Given the description of an element on the screen output the (x, y) to click on. 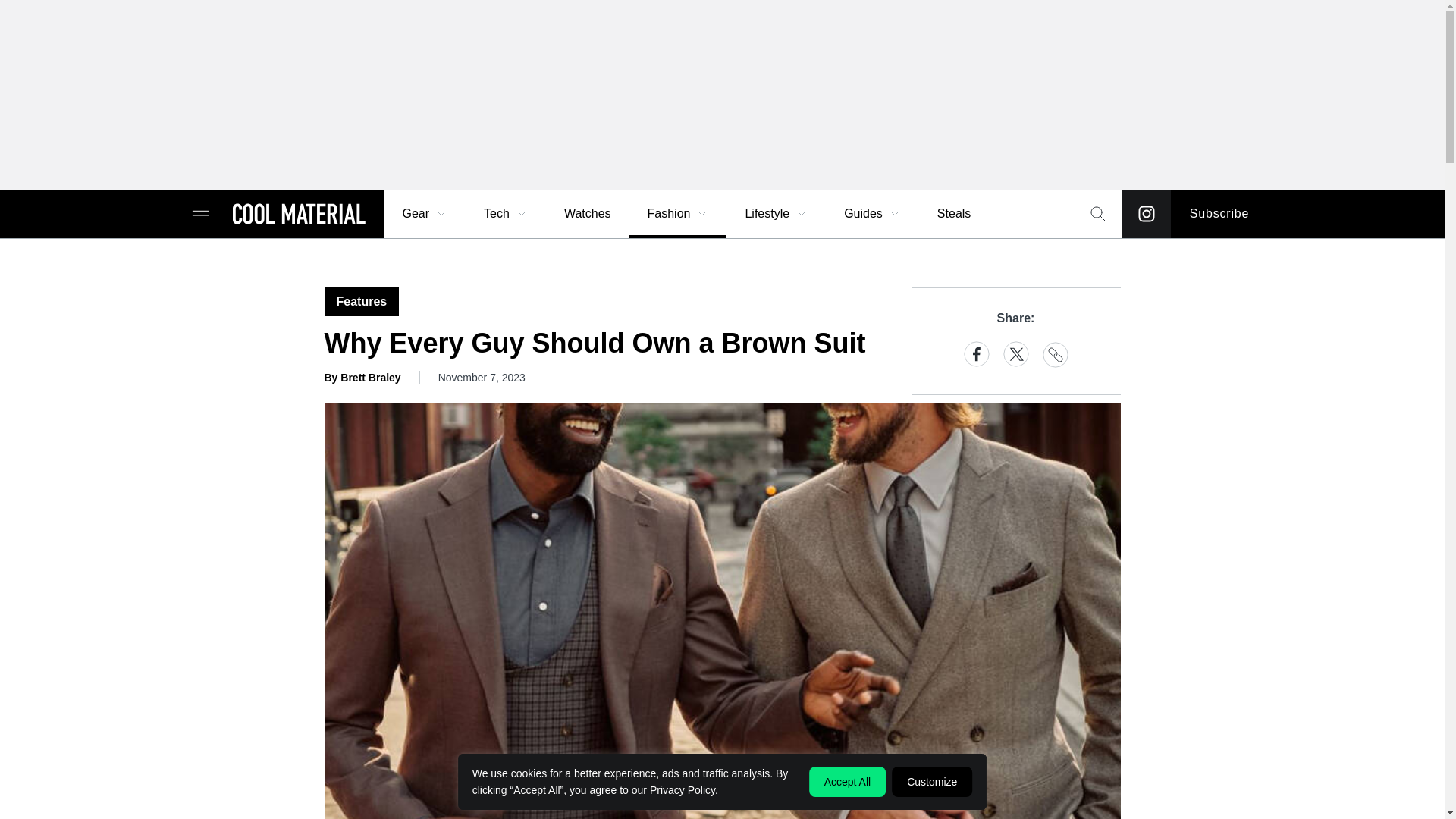
Privacy Policy (681, 789)
Accept All (847, 781)
Customize (931, 781)
Gear (424, 213)
Lifestyle (775, 213)
Tech (505, 213)
Fashion (677, 213)
Watches (587, 213)
